Given the description of an element on the screen output the (x, y) to click on. 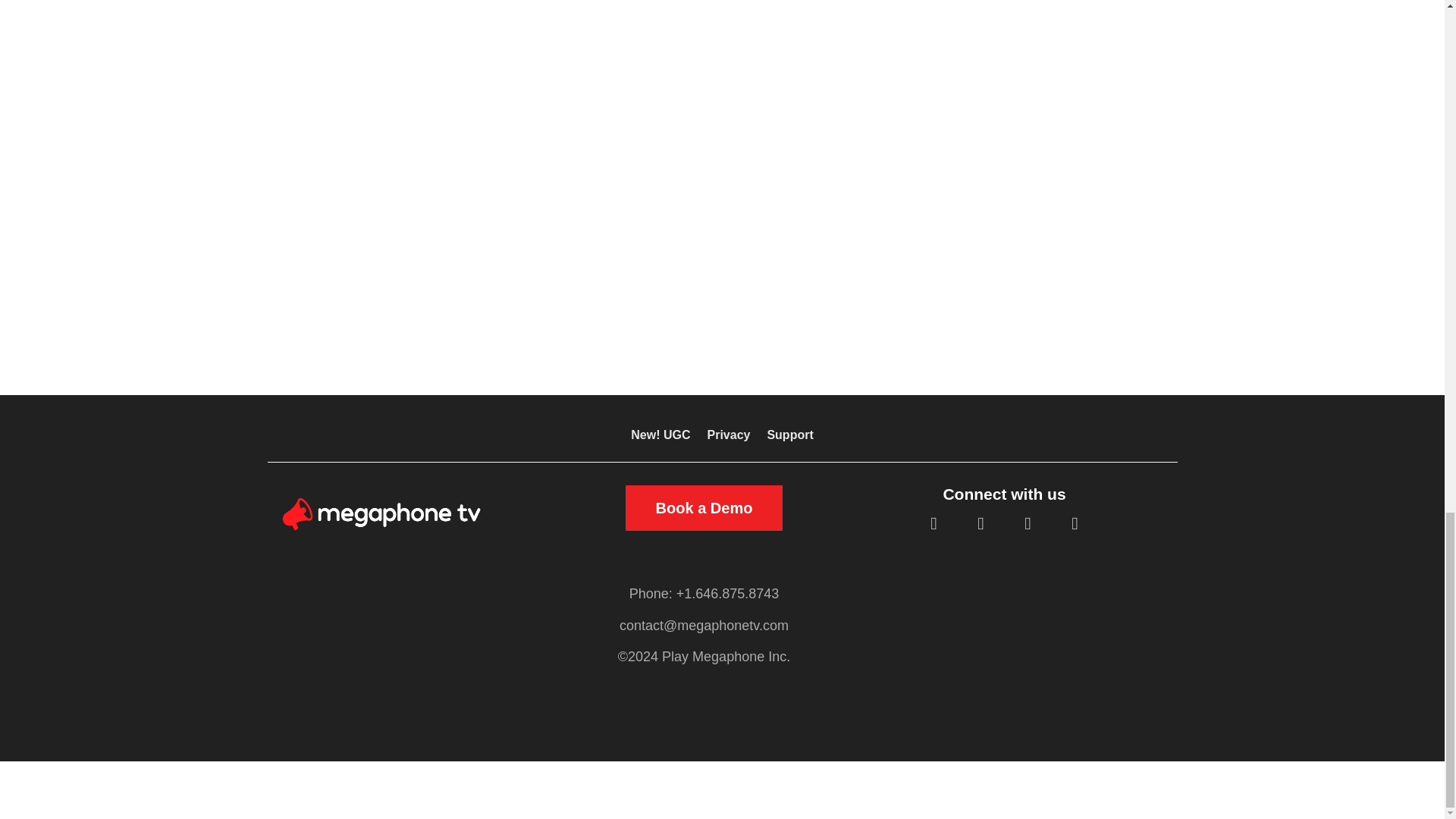
Follow on X (980, 523)
Privacy (727, 437)
Follow on Youtube (1074, 523)
Support (789, 437)
Follow on Facebook (932, 523)
Book a Demo (704, 507)
Follow on LinkedIn (1027, 523)
New! UGC (660, 437)
